Given the description of an element on the screen output the (x, y) to click on. 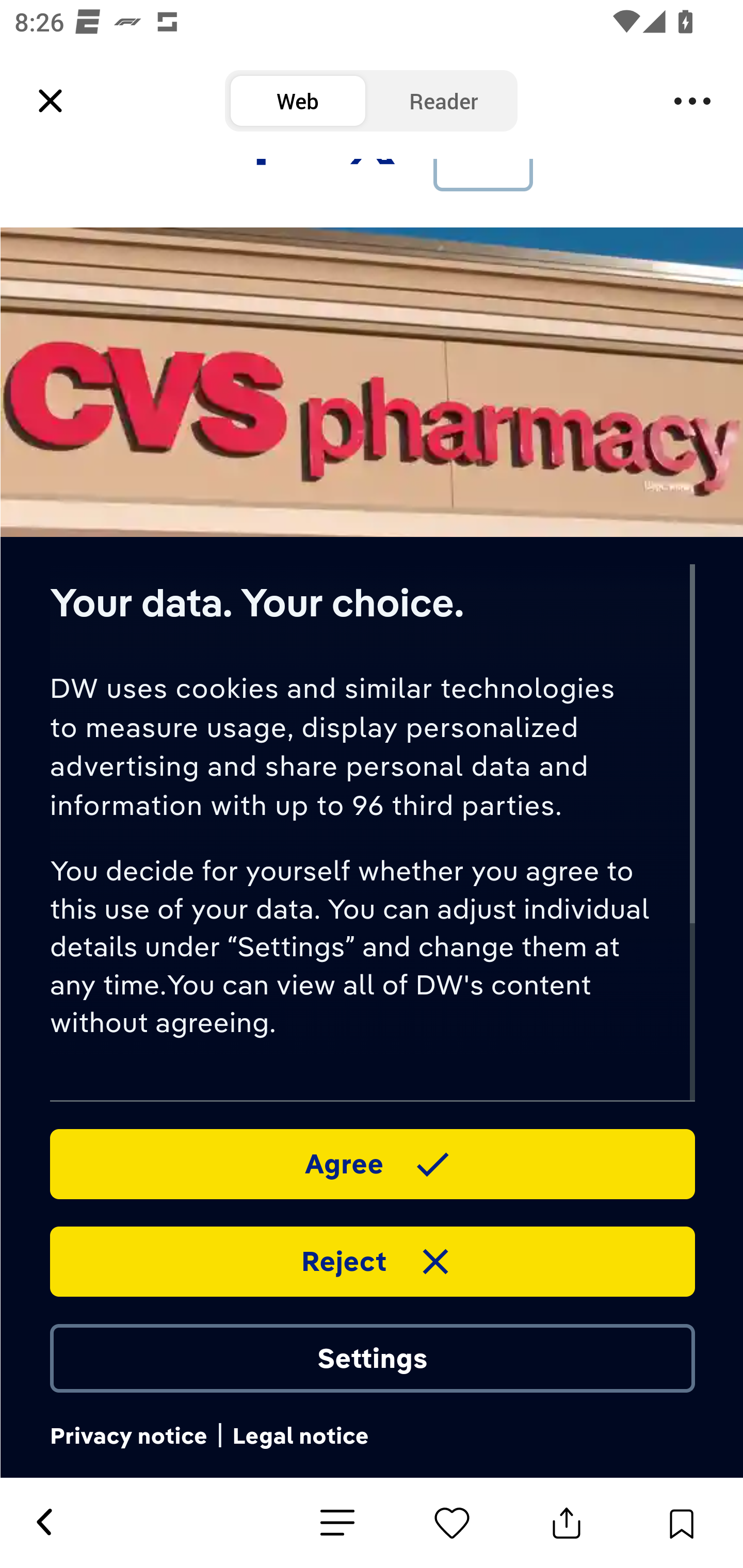
Leading Icon (50, 101)
Reader (443, 101)
Menu (692, 101)
Agree (372, 1163)
Reject (372, 1260)
Settings (372, 1356)
Back Button (43, 1523)
News Detail Emotion (451, 1523)
Share Button (566, 1523)
Save Button (680, 1523)
News Detail Emotion (337, 1523)
